Given the description of an element on the screen output the (x, y) to click on. 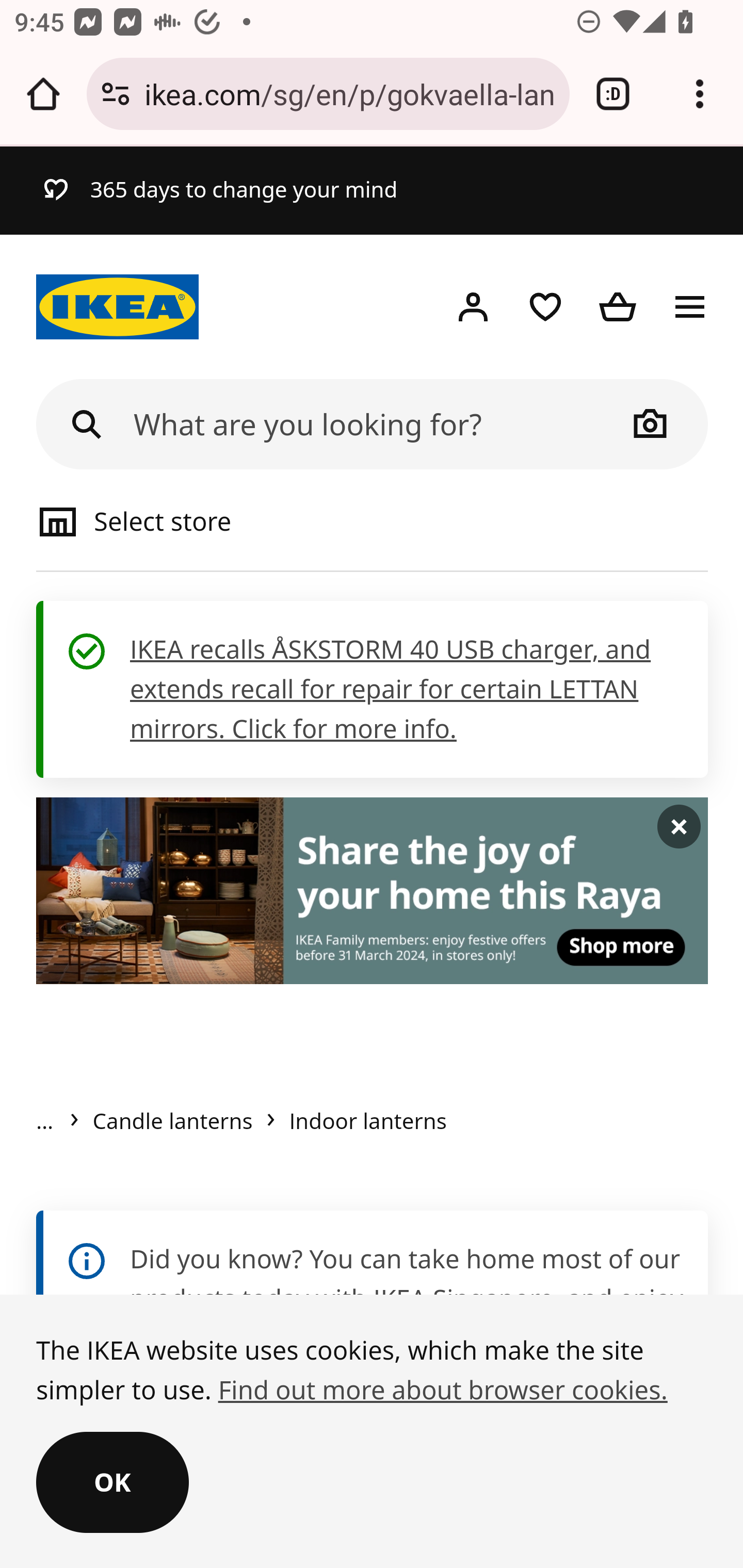
Open the home page (43, 93)
Connection is secure (115, 93)
Switch or close tabs (612, 93)
Customize and control Google Chrome (699, 93)
365 days to change your mind (218, 189)
profile (472, 307)
Shopping list (544, 307)
Shopping cart (618, 307)
Menu (690, 307)
IKEA logotype, go to start page (117, 307)
Search IKEA products using a photo (650, 423)
Select store (204, 520)
… (45, 1120)
Candle lanterns (172, 1120)
Indoor lanterns (368, 1120)
Find out more about browser cookies. (441, 1390)
OK (112, 1483)
